Given the description of an element on the screen output the (x, y) to click on. 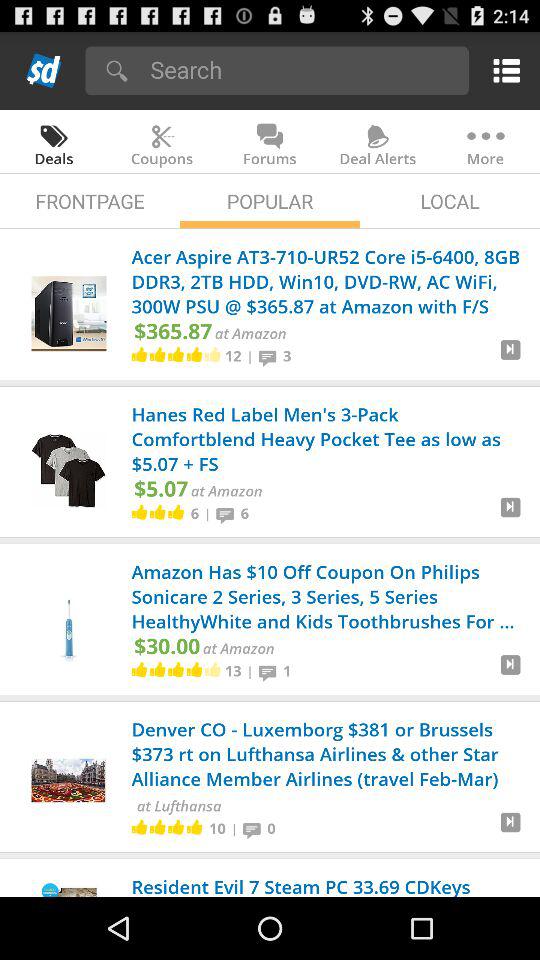
more options button (502, 70)
